Given the description of an element on the screen output the (x, y) to click on. 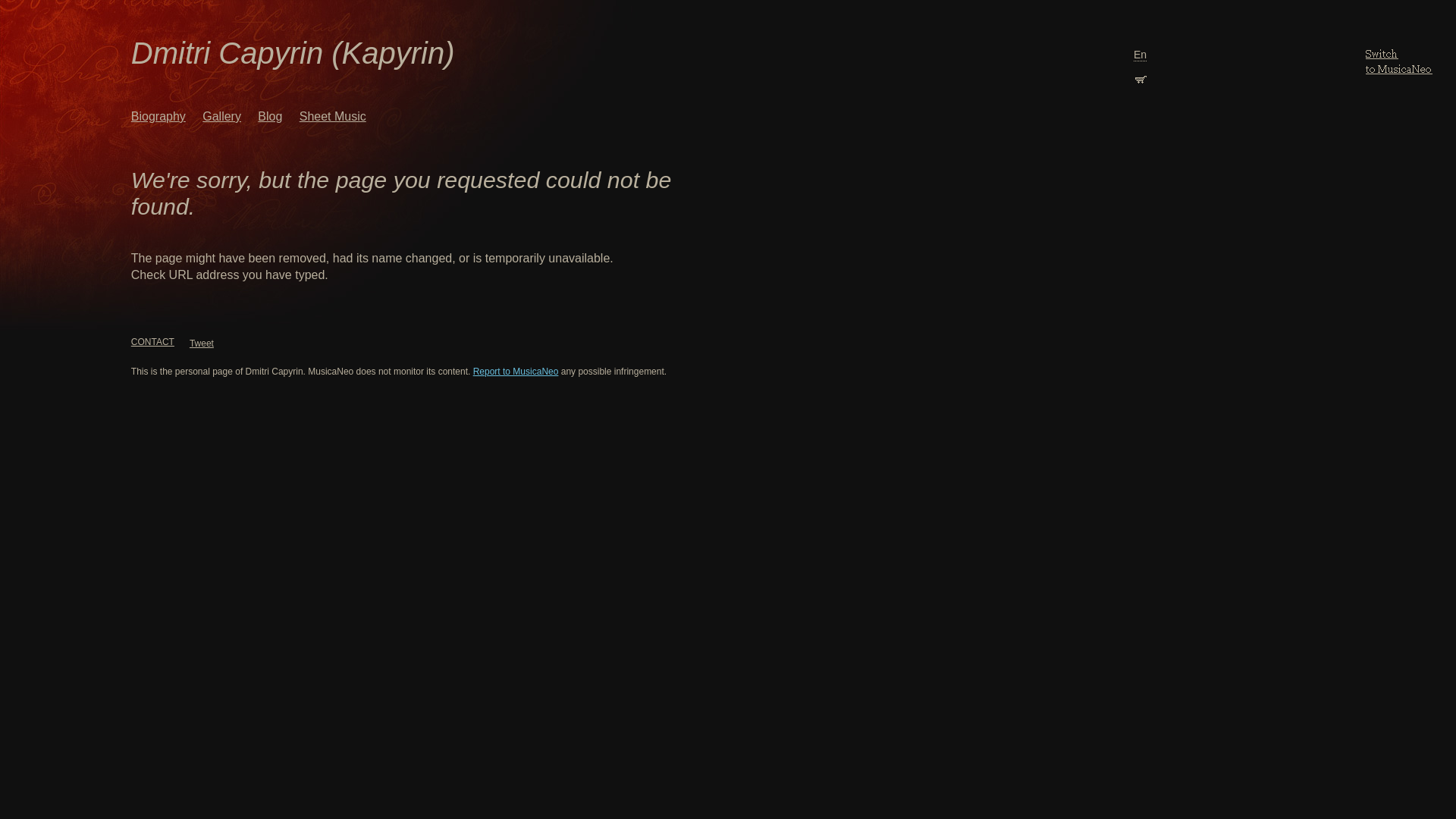
Gallery Element type: text (221, 115)
Sheet Music Element type: text (332, 115)
Report to MusicaNeo Element type: text (515, 371)
Basket Element type: hover (1140, 77)
Dmitri Capyrin (Kapyrin) Element type: text (293, 52)
Blog Element type: text (269, 115)
En Element type: text (1139, 54)
Biography Element type: text (158, 115)
Tweet Element type: text (201, 343)
CONTACT Element type: text (152, 341)
